Given the description of an element on the screen output the (x, y) to click on. 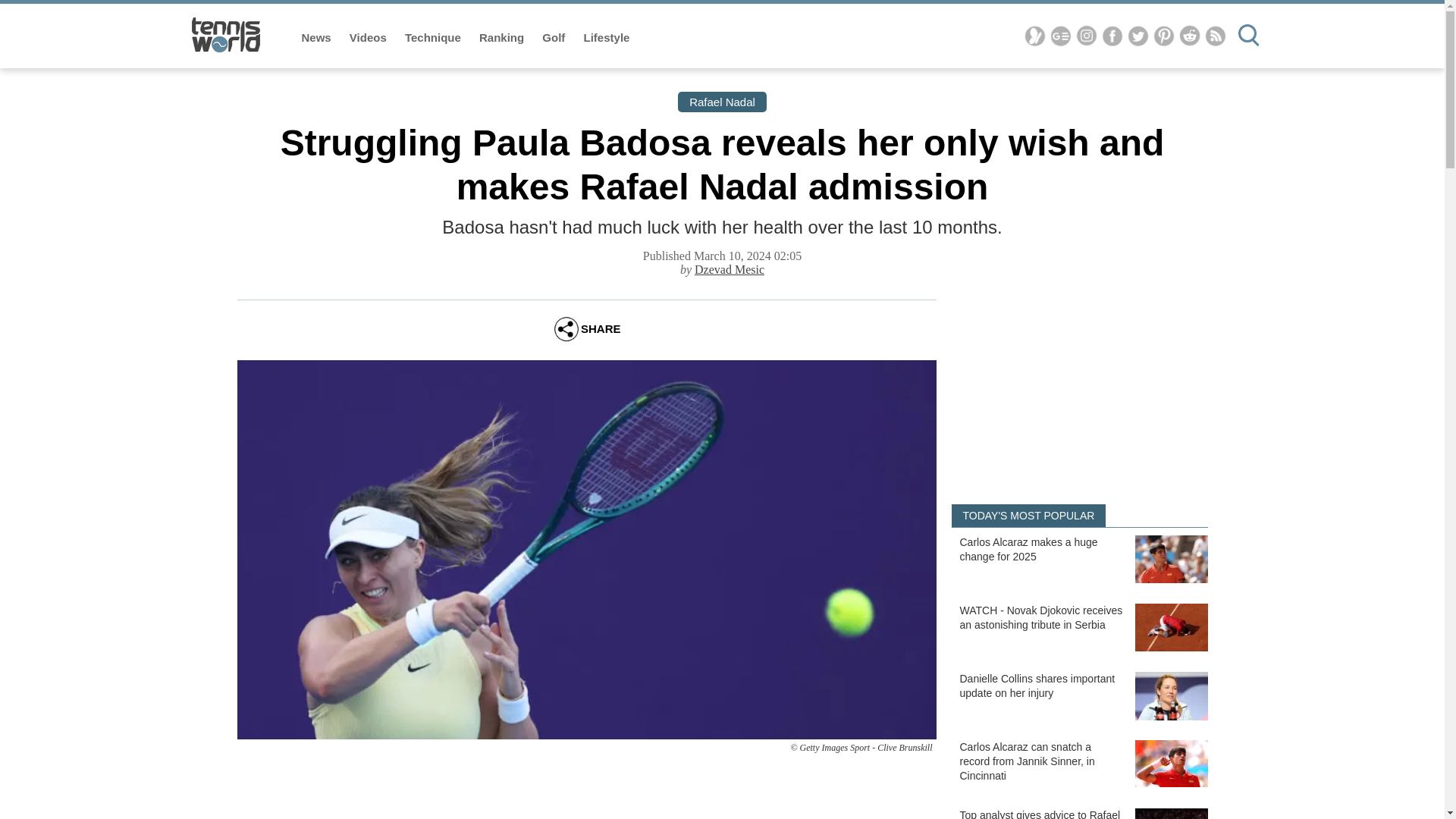
News (317, 37)
Golf (554, 37)
Ranking (503, 37)
Technique (434, 37)
Lifestyle (606, 37)
Videos (369, 37)
